Given the description of an element on the screen output the (x, y) to click on. 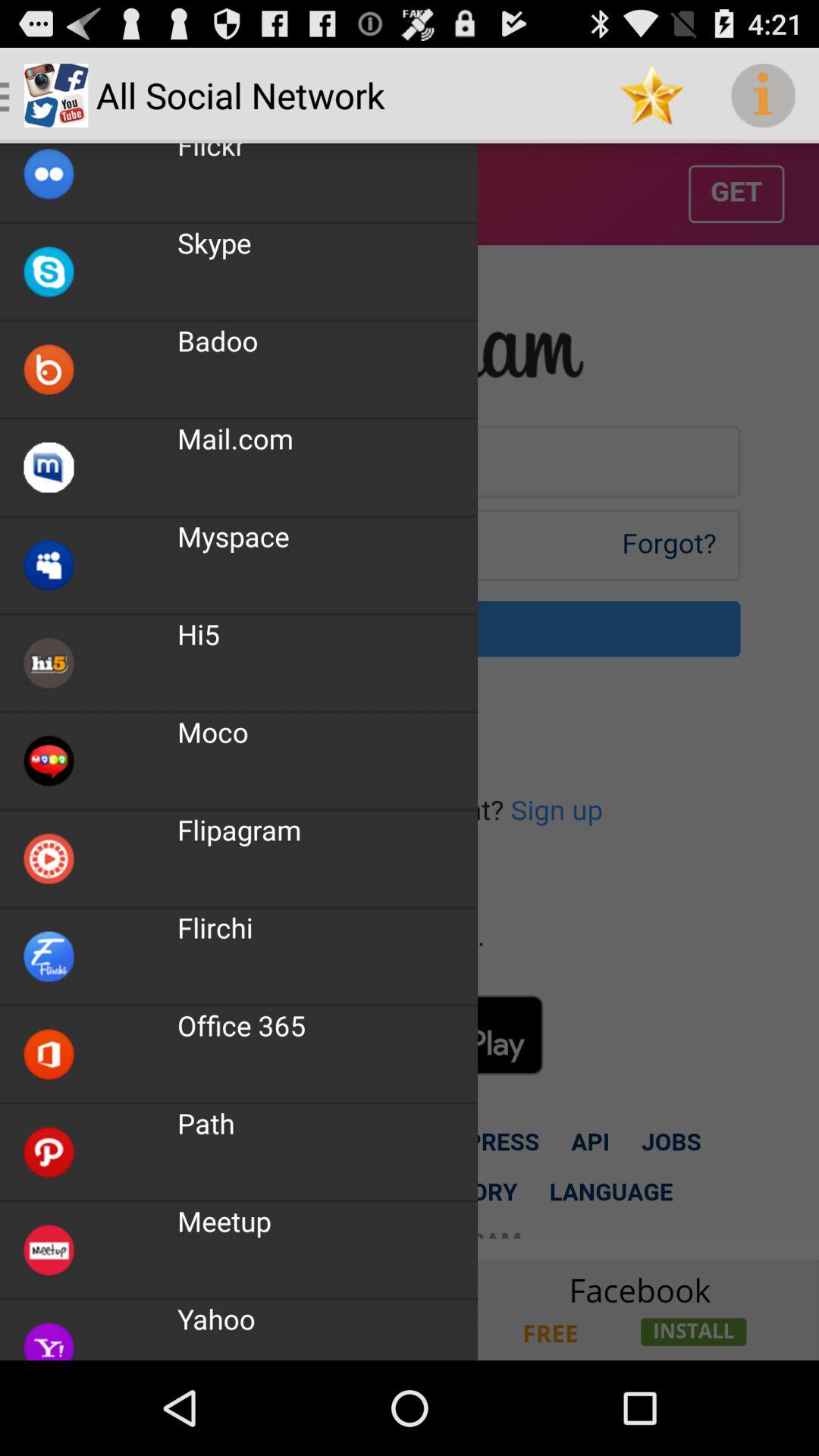
launch the icon above myspace app (235, 438)
